Given the description of an element on the screen output the (x, y) to click on. 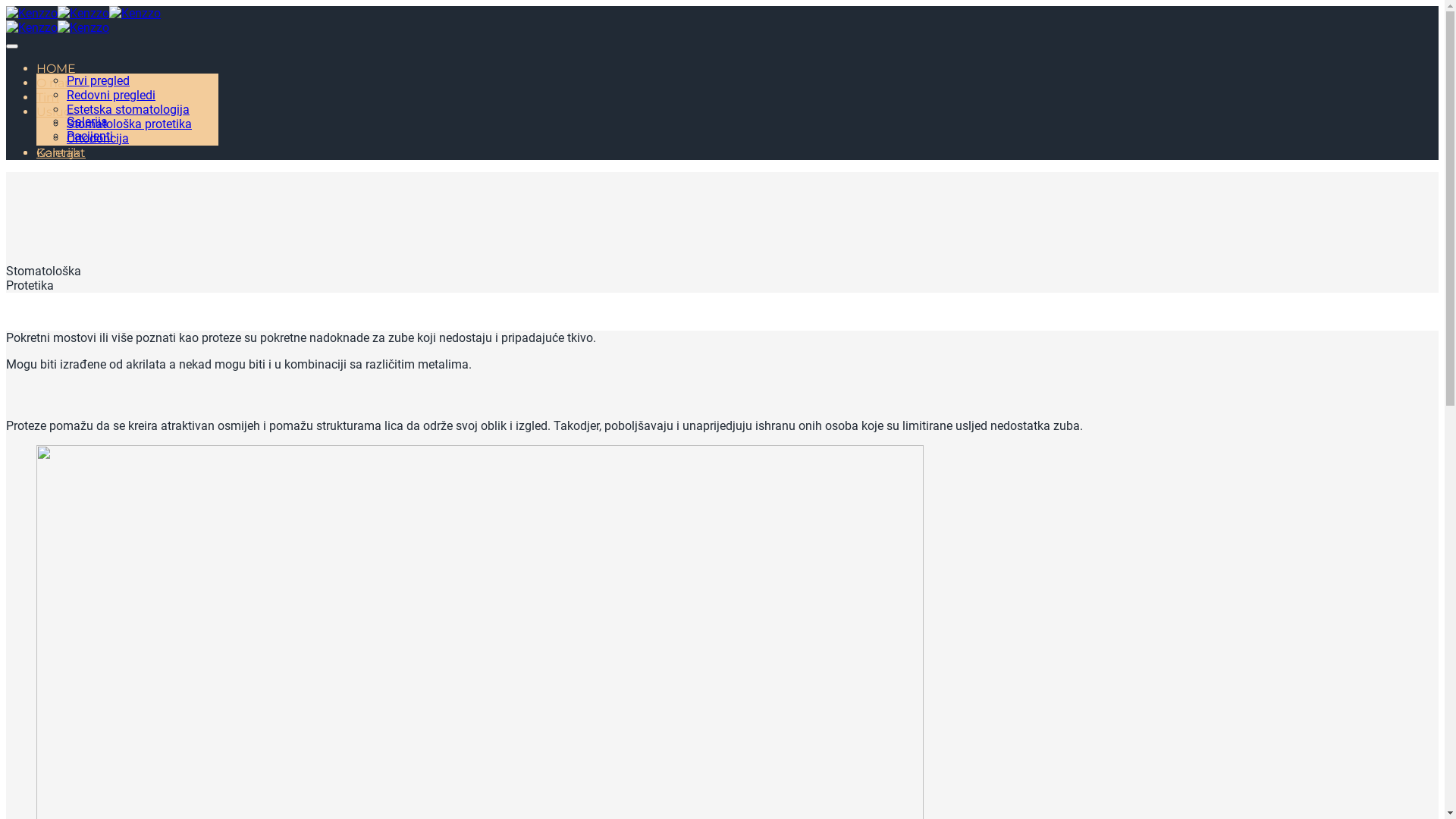
Estetska stomatologija Element type: text (127, 109)
Galerija Element type: text (86, 121)
Galerija Element type: text (58, 152)
Usluge Element type: text (57, 111)
Prvi pregled Element type: text (97, 80)
Tim Element type: text (47, 97)
HOME Element type: text (55, 68)
Ortodoncija Element type: text (97, 138)
O nama Element type: text (60, 82)
Pacijenti Element type: text (89, 135)
Redovni pregledi Element type: text (110, 94)
Kontakt Element type: text (60, 152)
